Given the description of an element on the screen output the (x, y) to click on. 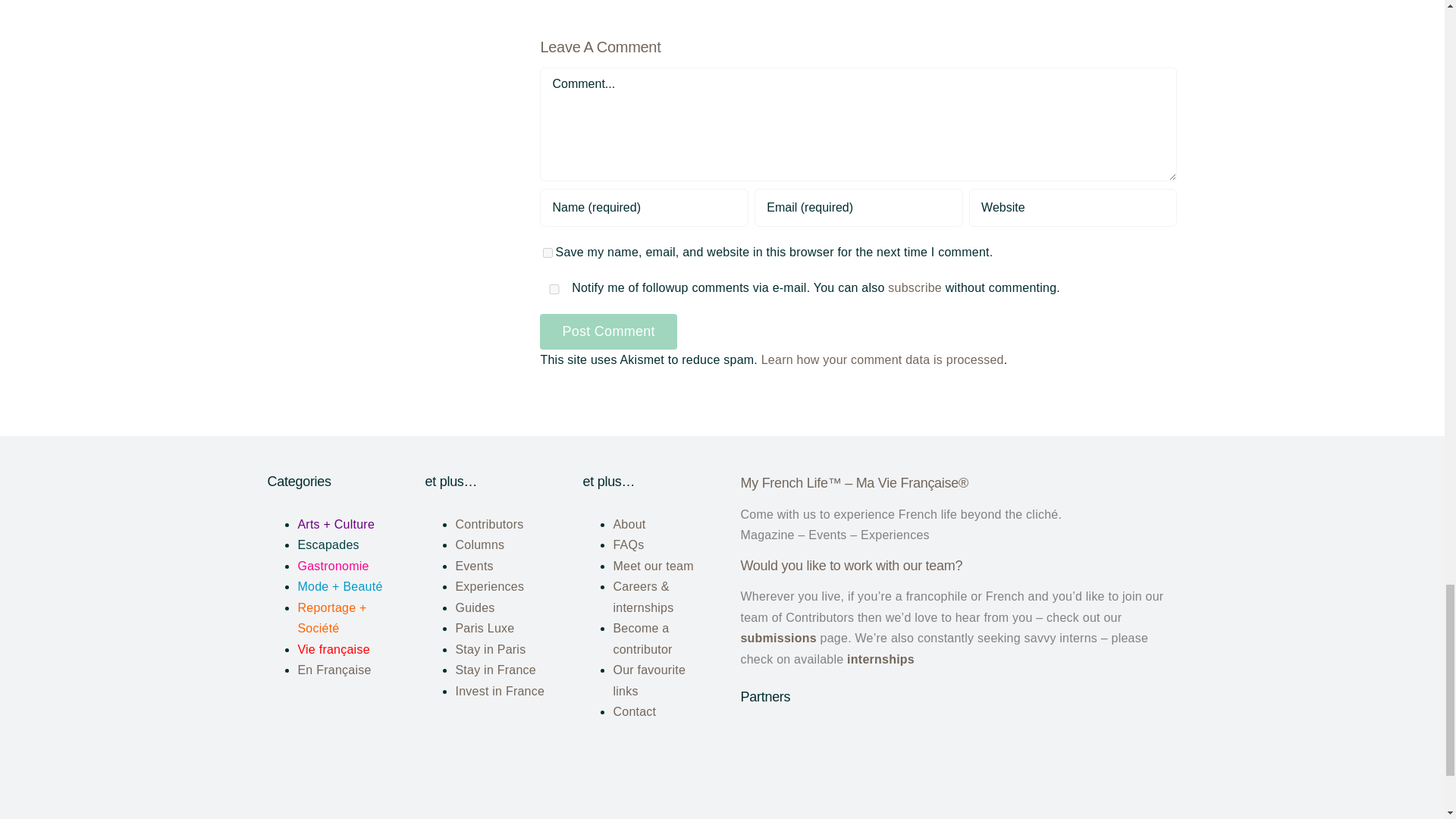
yes (554, 289)
yes (548, 252)
Post Comment (608, 331)
